Given the description of an element on the screen output the (x, y) to click on. 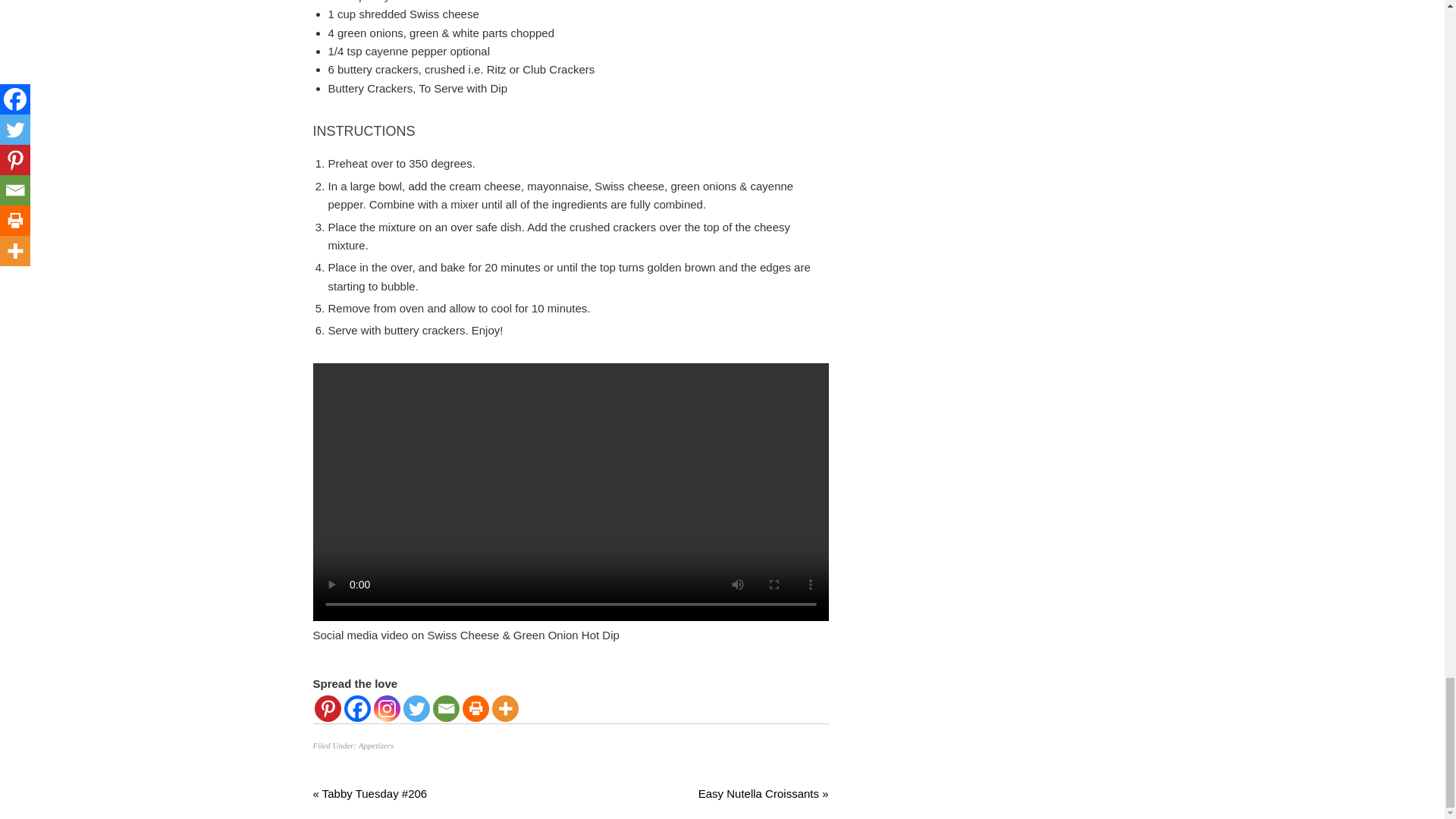
Print (476, 708)
Facebook (357, 708)
Twitter (416, 708)
Email (445, 708)
More (505, 708)
Instagram (385, 708)
Pinterest (327, 708)
